Given the description of an element on the screen output the (x, y) to click on. 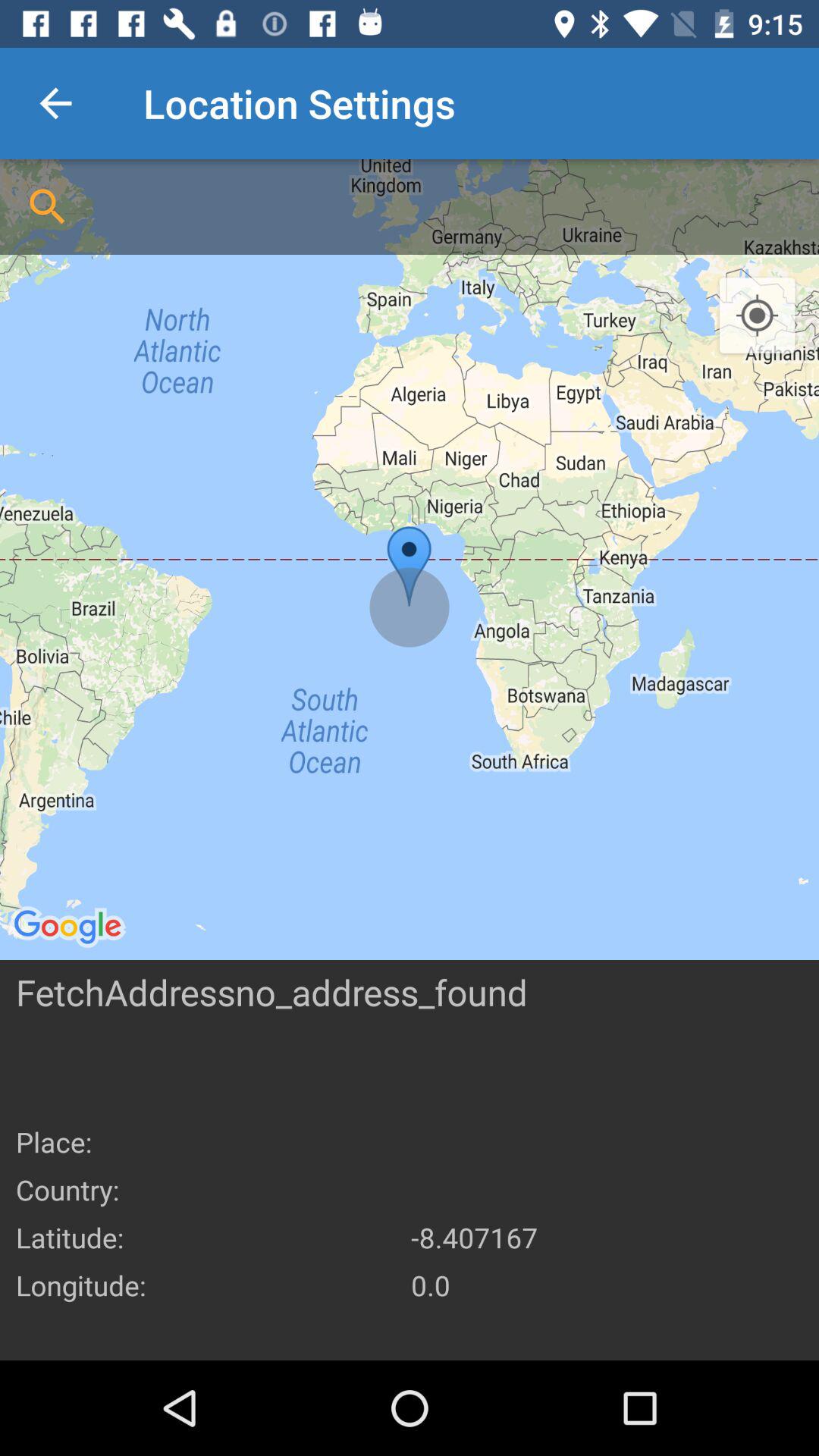
select item next to the location settings item (55, 103)
